Given the description of an element on the screen output the (x, y) to click on. 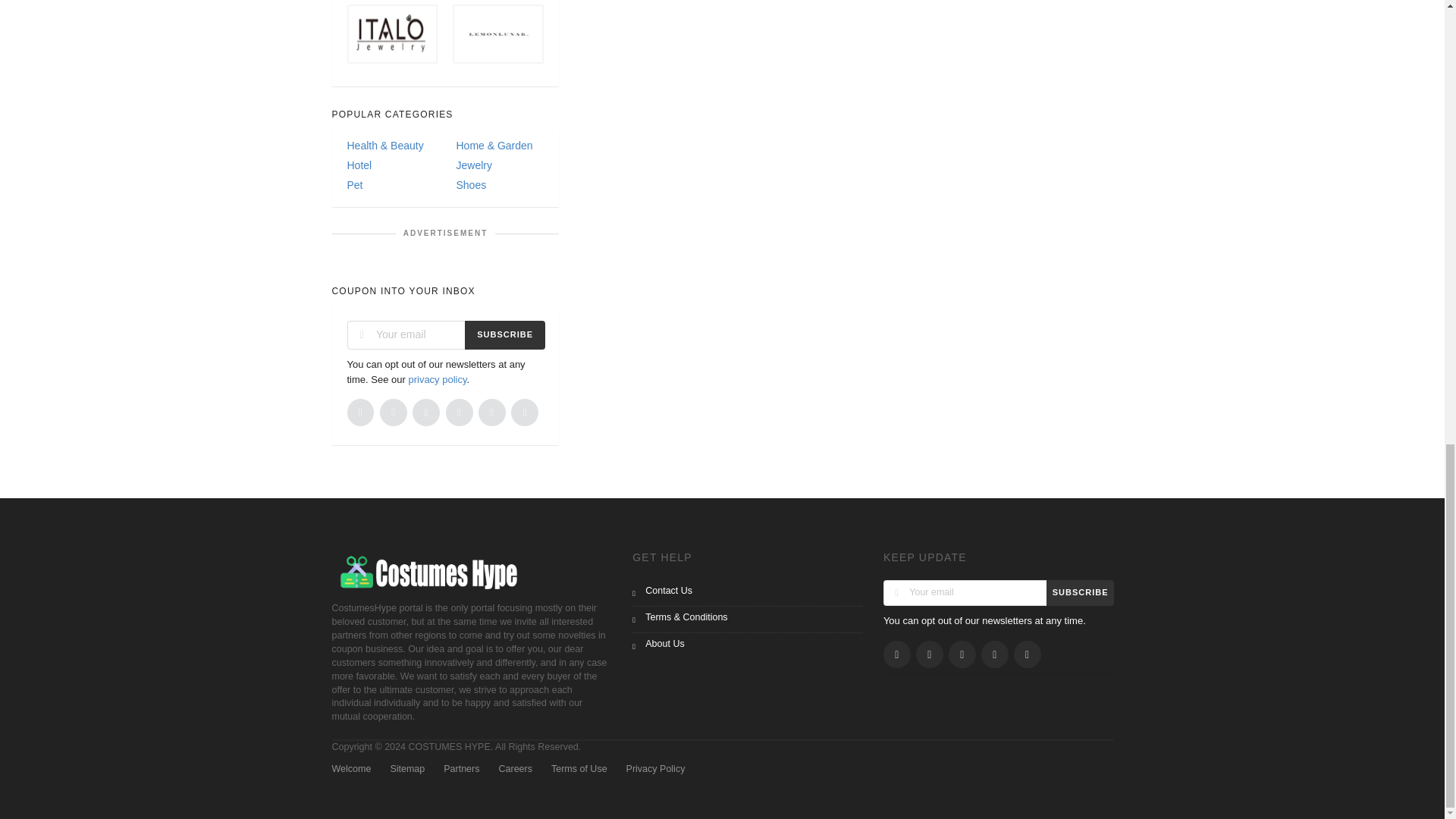
LemonLunar (497, 33)
Jewelry (499, 165)
Hotel (391, 165)
